Given the description of an element on the screen output the (x, y) to click on. 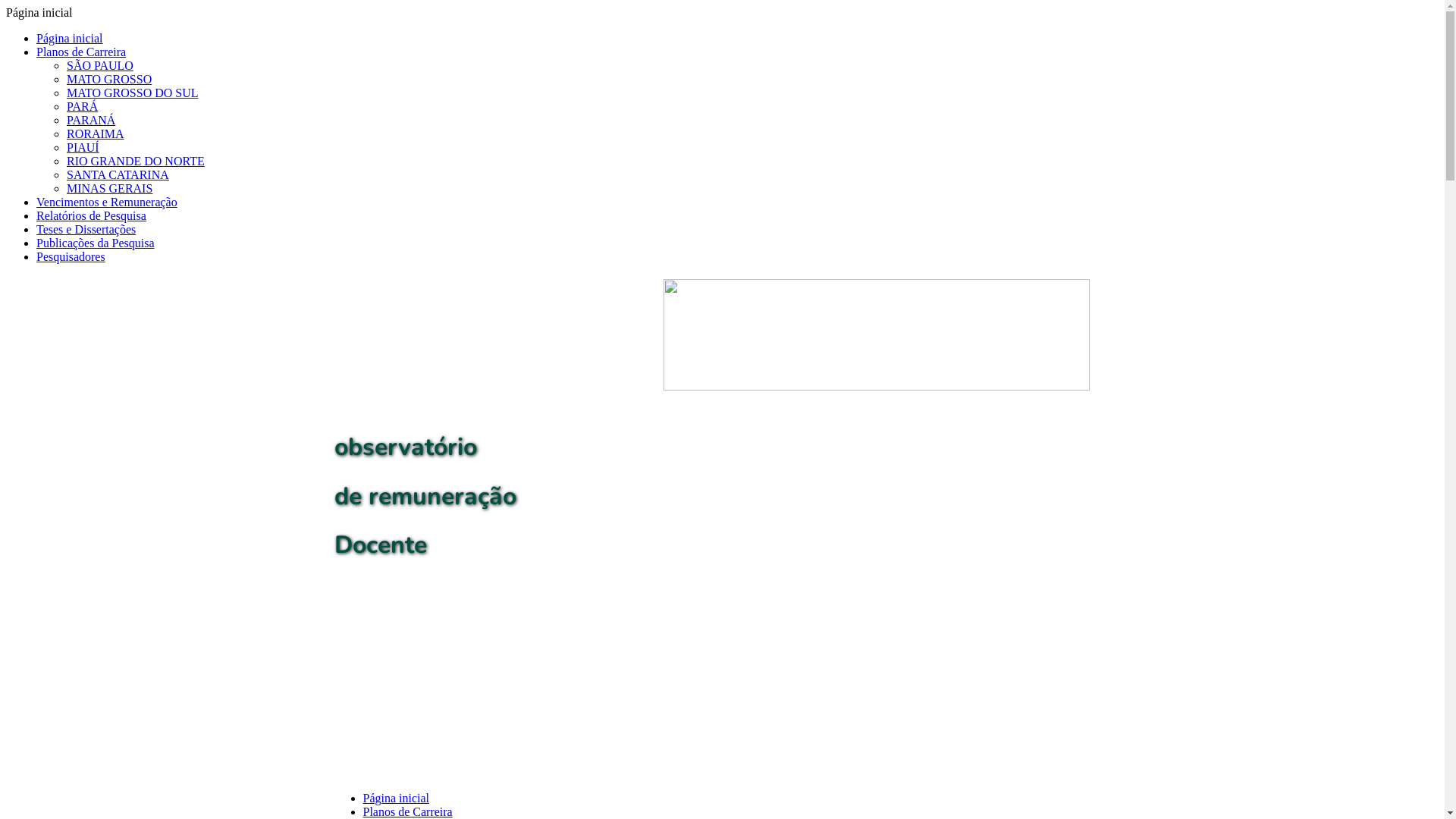
Planos de Carreira Element type: text (406, 811)
SANTA CATARINA Element type: text (117, 174)
RORAIMA Element type: text (95, 133)
MATO GROSSO Element type: text (108, 78)
Pesquisadores Element type: text (70, 256)
RIO GRANDE DO NORTE Element type: text (135, 160)
MINAS GERAIS Element type: text (109, 188)
MATO GROSSO DO SUL Element type: text (132, 92)
Planos de Carreira Element type: text (80, 51)
